Given the description of an element on the screen output the (x, y) to click on. 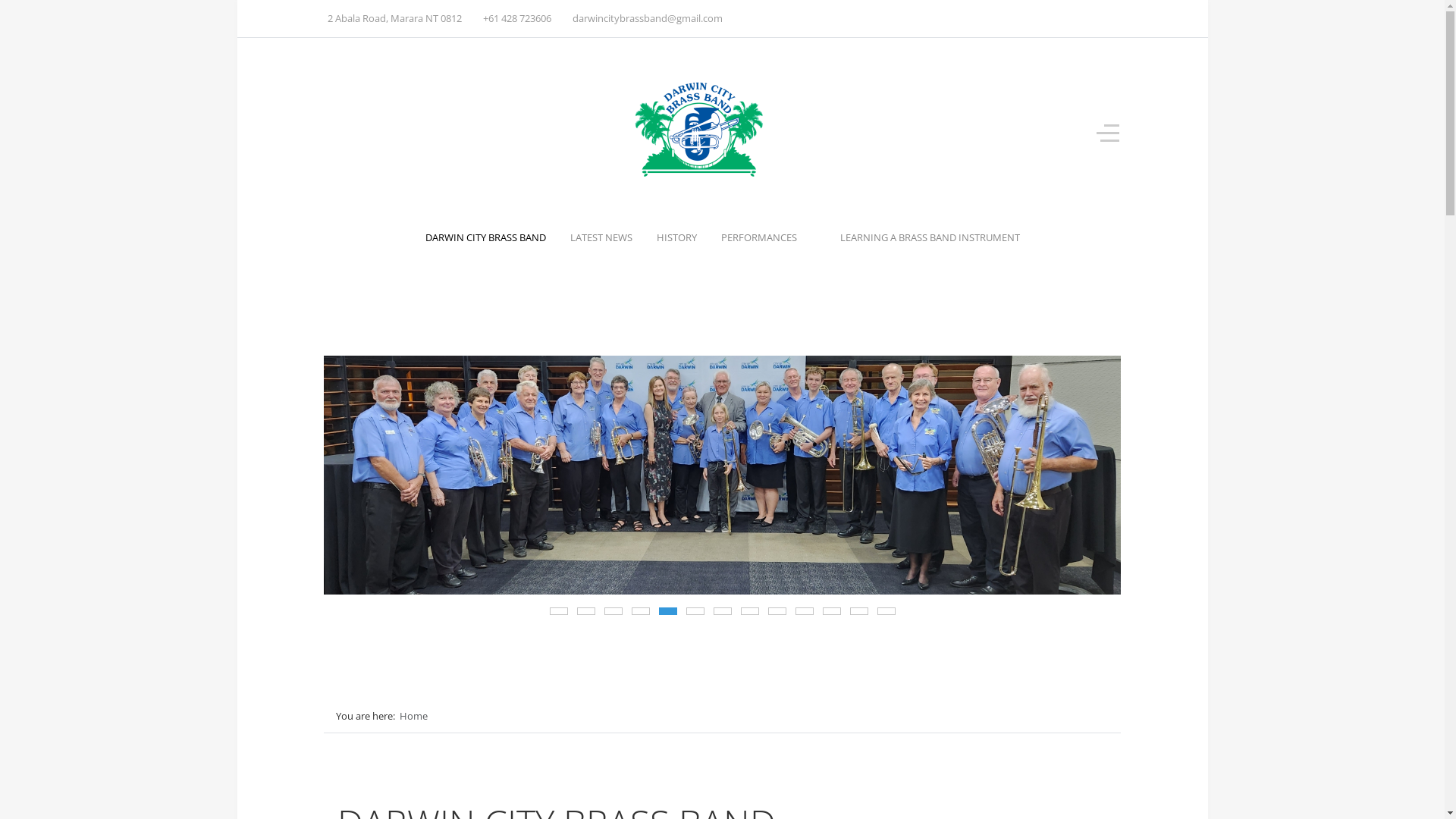
DARWIN CITY BRASS BAND Element type: text (484, 237)
darwincitybrassband@gmail.com Element type: text (647, 18)
LEARNING A BRASS BAND INSTRUMENT Element type: text (930, 237)
LATEST NEWS Element type: text (601, 237)
PERFORMANCES Element type: text (767, 237)
HISTORY Element type: text (676, 237)
+61 428 723606 Element type: text (517, 18)
